Given the description of an element on the screen output the (x, y) to click on. 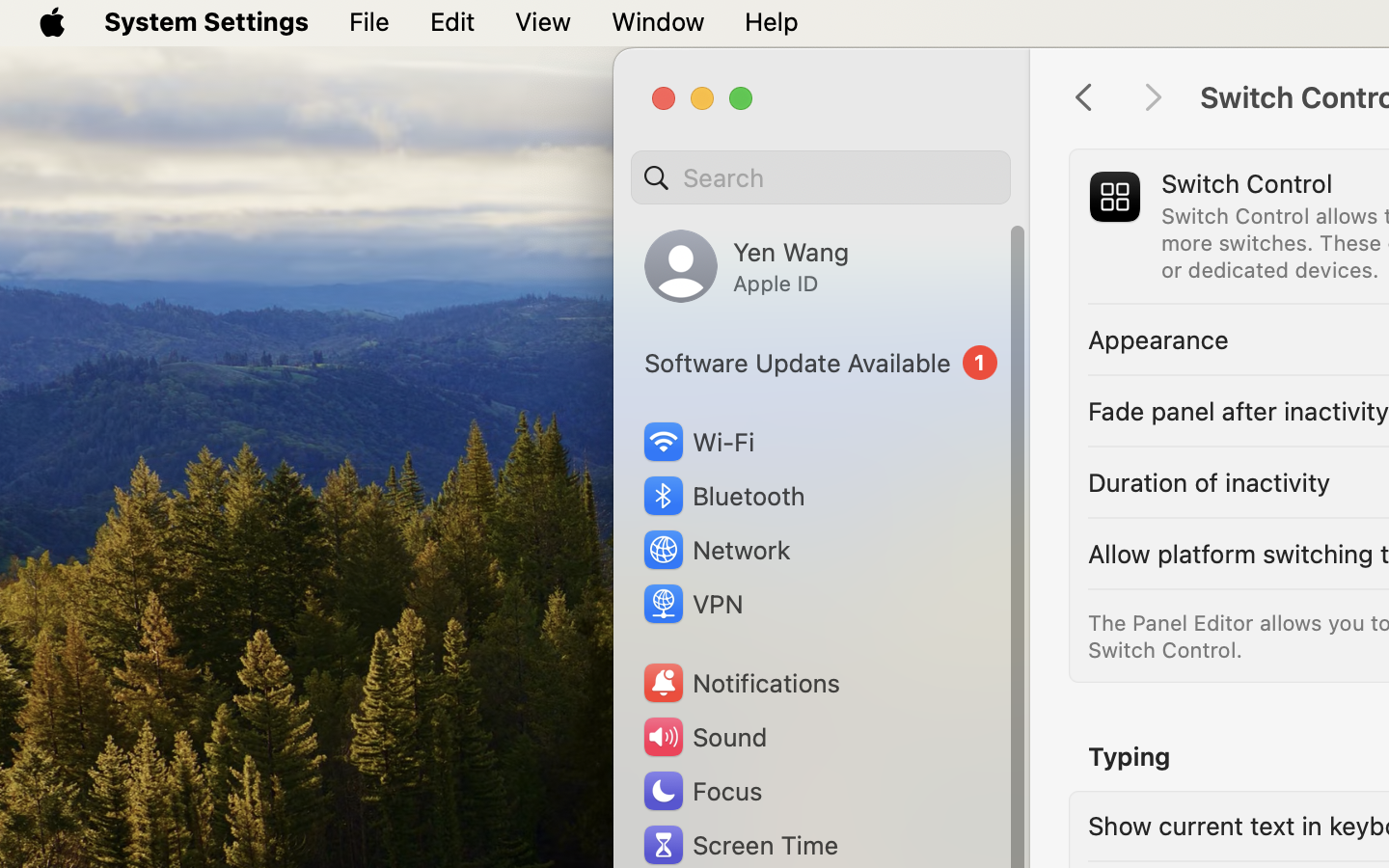
Wi‑Fi Element type: AXStaticText (697, 441)
Network Element type: AXStaticText (715, 549)
Switch Control Element type: AXStaticText (1247, 182)
Yen Wang, Apple ID Element type: AXStaticText (746, 265)
Duration of inactivity Element type: AXStaticText (1209, 481)
